Given the description of an element on the screen output the (x, y) to click on. 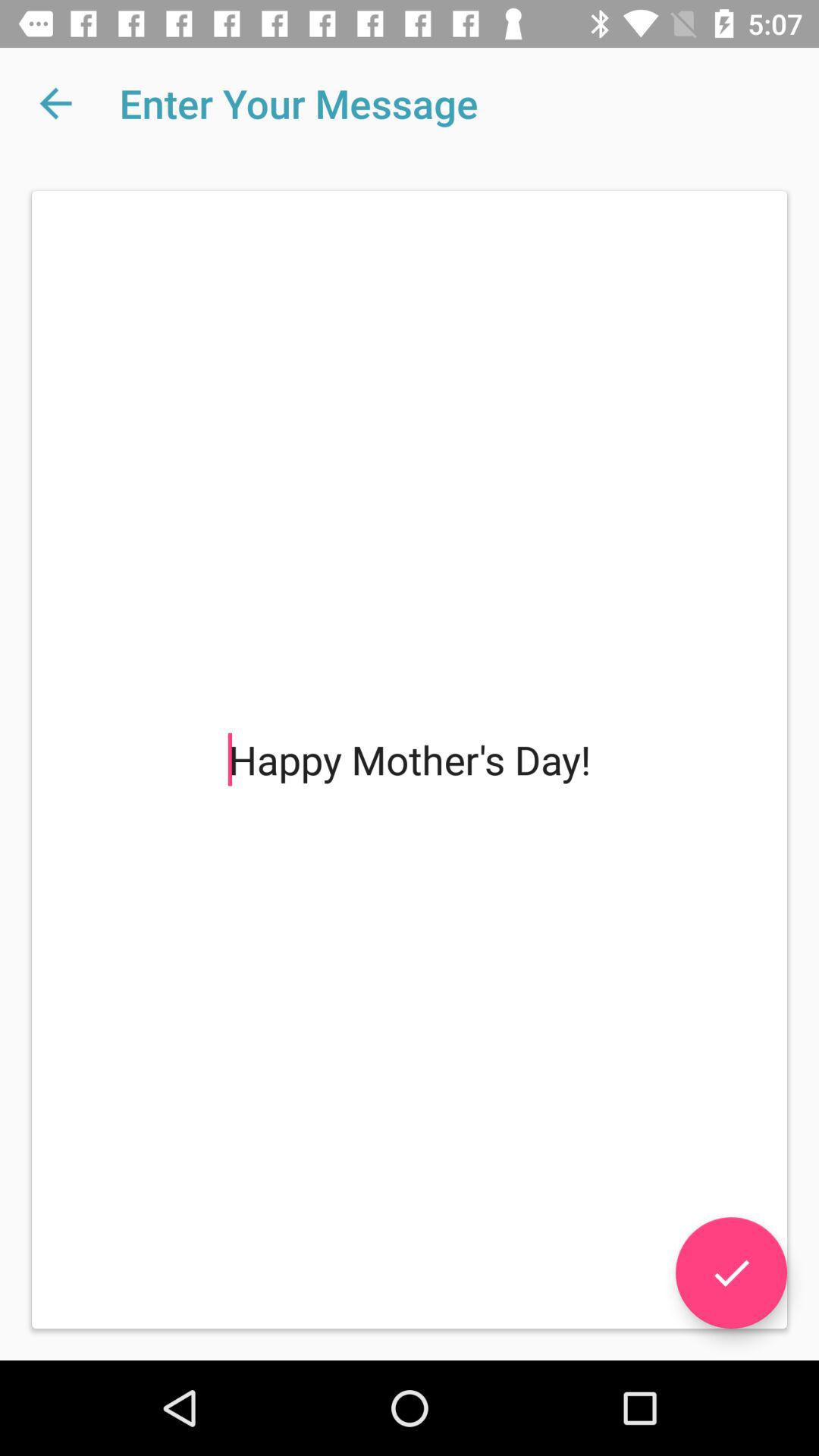
turn on item at the bottom right corner (731, 1272)
